Given the description of an element on the screen output the (x, y) to click on. 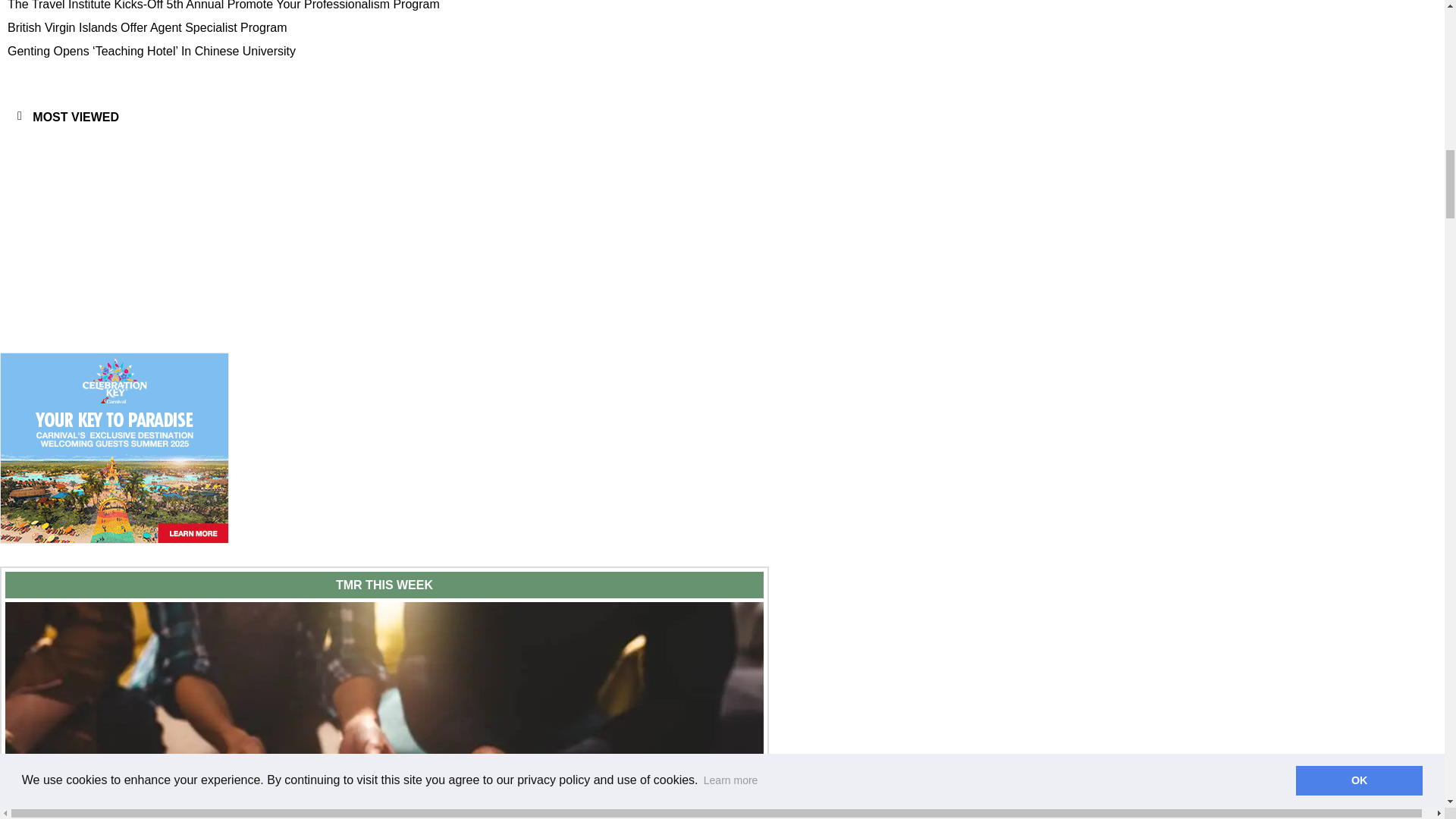
British Virgin Islands Offer Agent Specialist Program (393, 27)
